Given the description of an element on the screen output the (x, y) to click on. 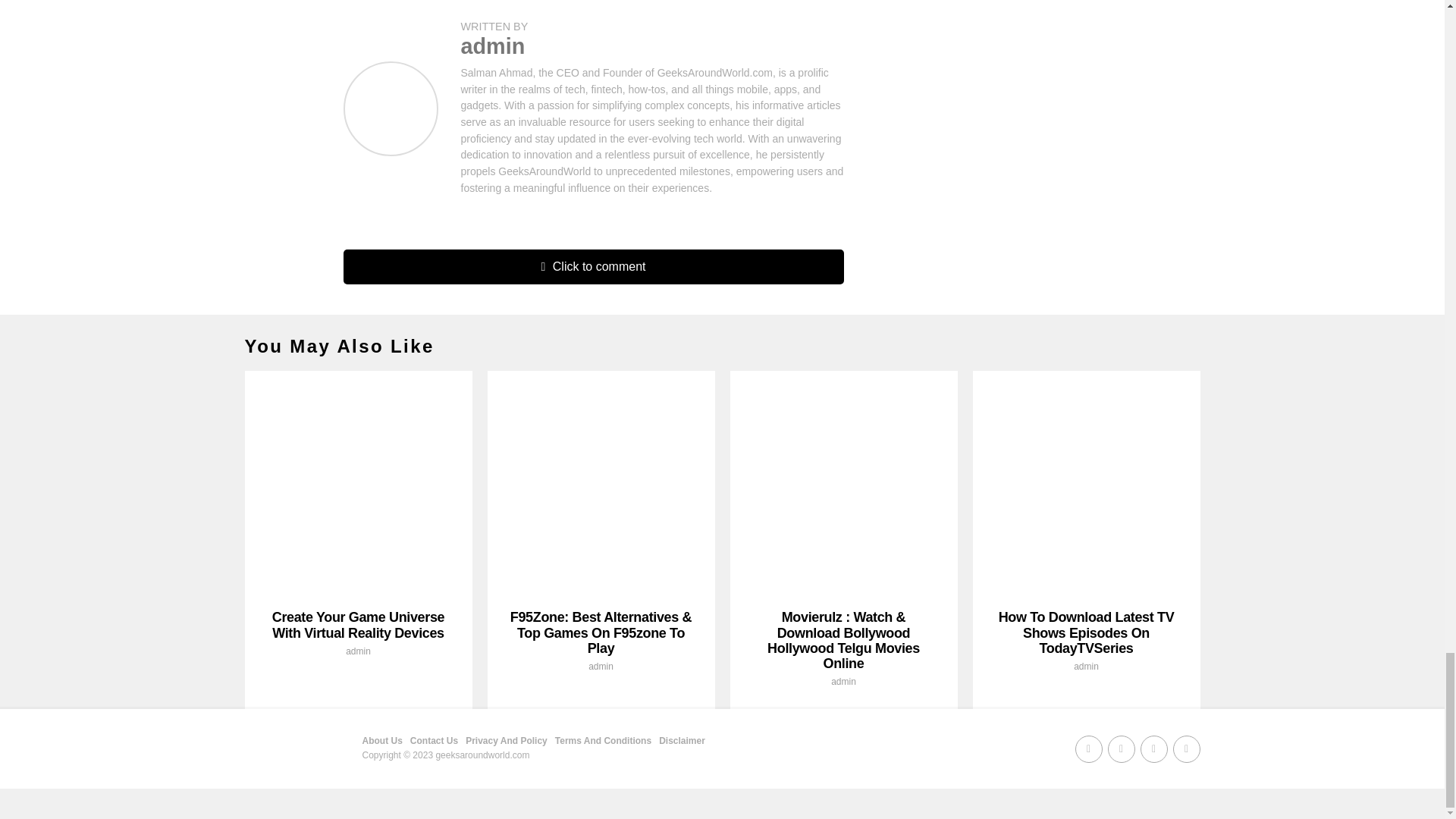
Posts by admin (493, 46)
Posts by admin (843, 681)
Posts by admin (1086, 665)
Posts by admin (358, 651)
Posts by admin (600, 665)
